Given the description of an element on the screen output the (x, y) to click on. 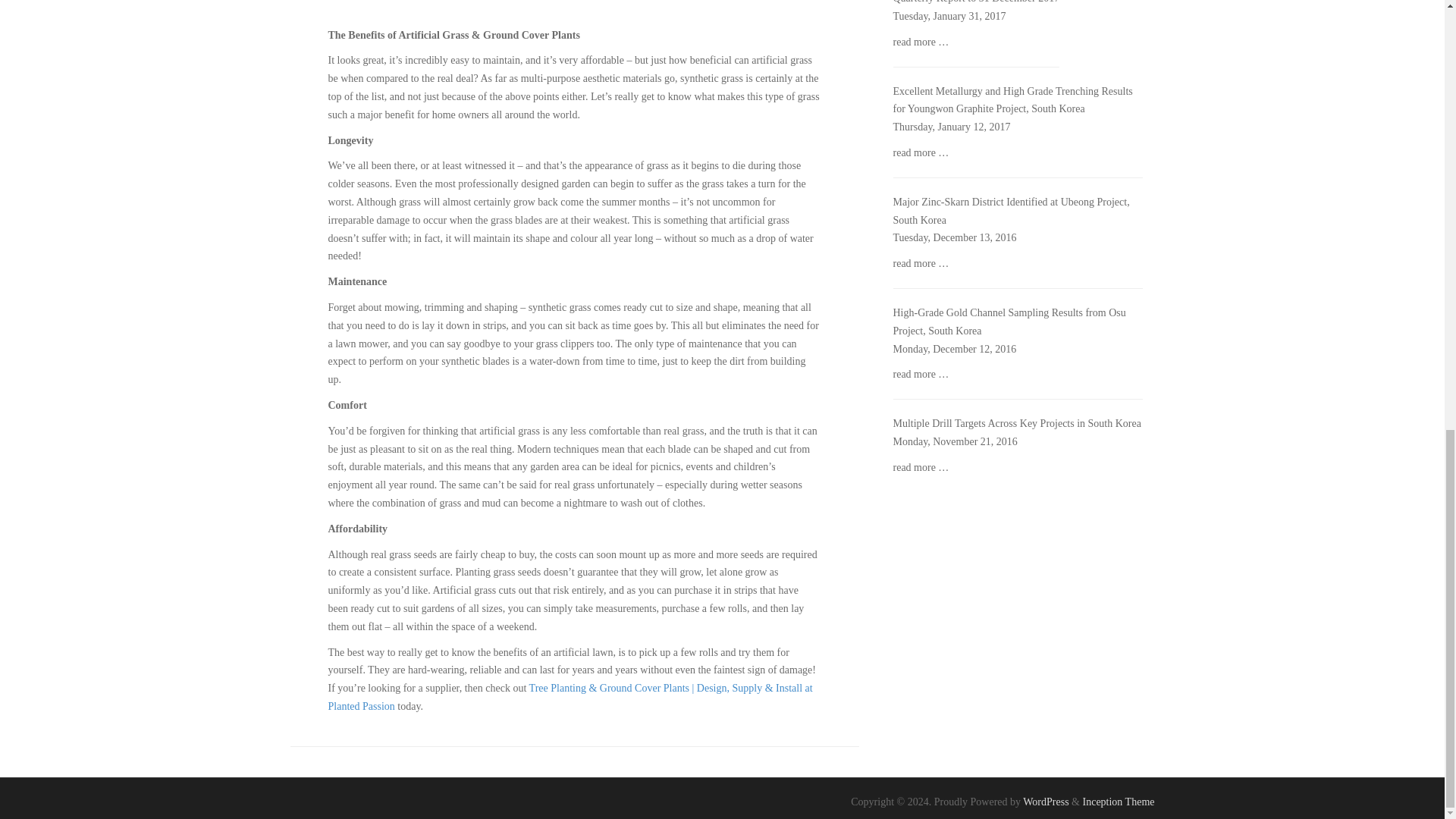
Inception Theme (1118, 801)
WordPress (1045, 801)
